Given the description of an element on the screen output the (x, y) to click on. 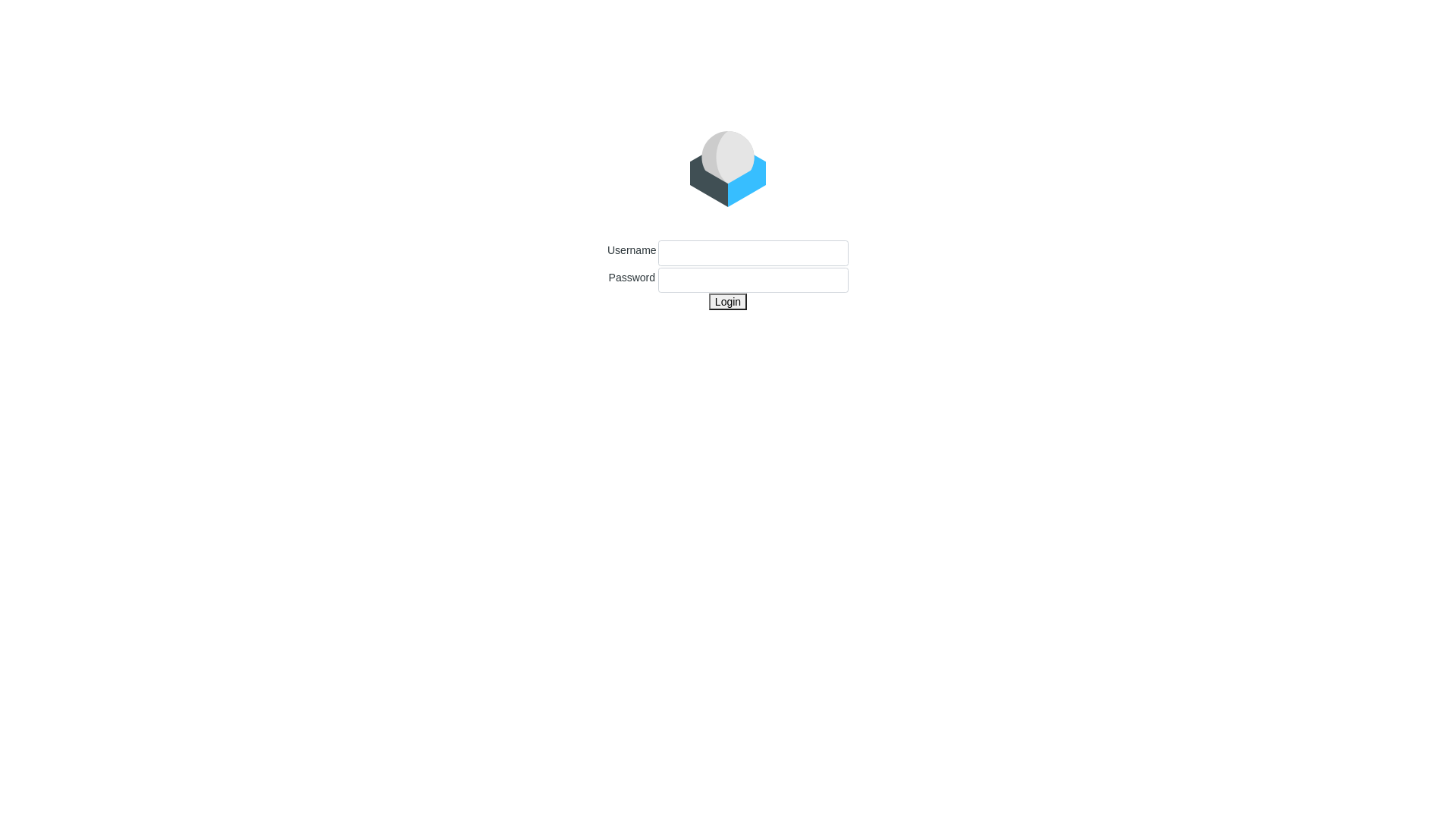
Login Element type: text (727, 301)
